Given the description of an element on the screen output the (x, y) to click on. 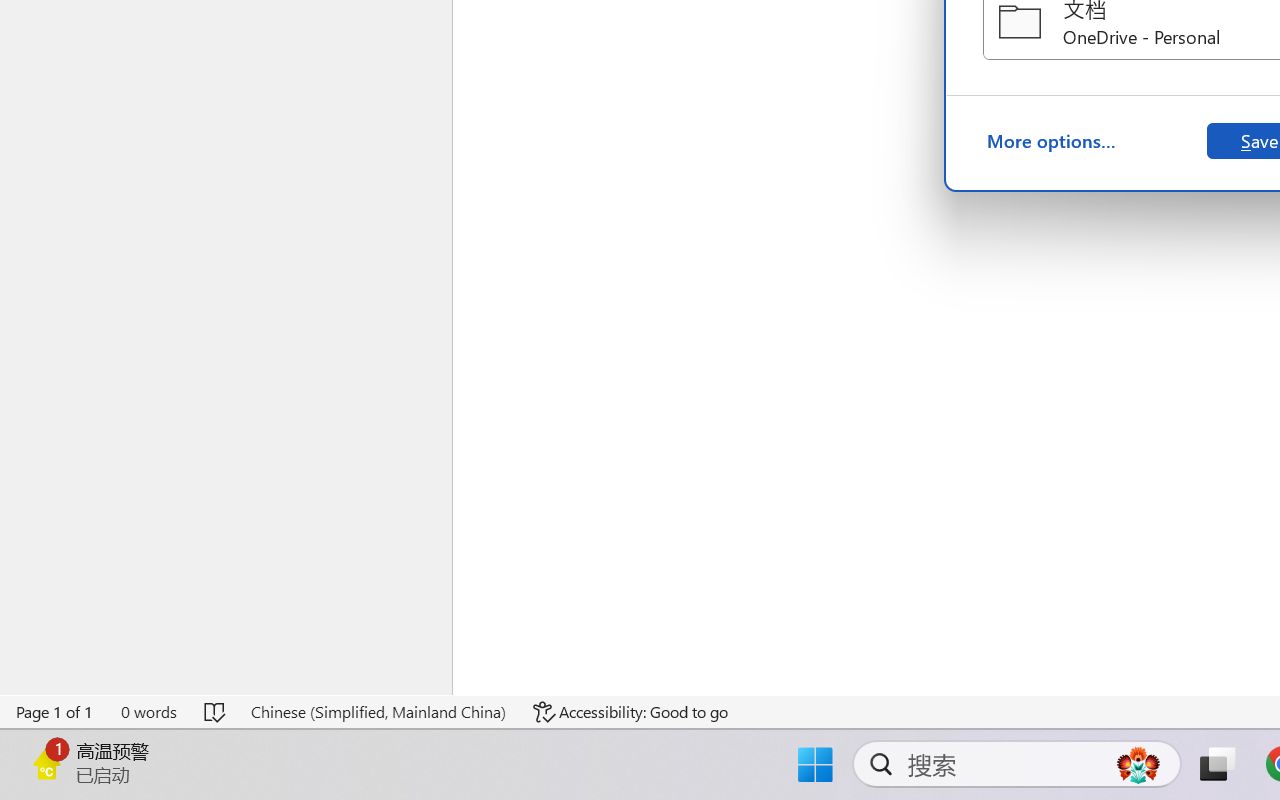
Language Chinese (Simplified, Mainland China) (378, 712)
